Given the description of an element on the screen output the (x, y) to click on. 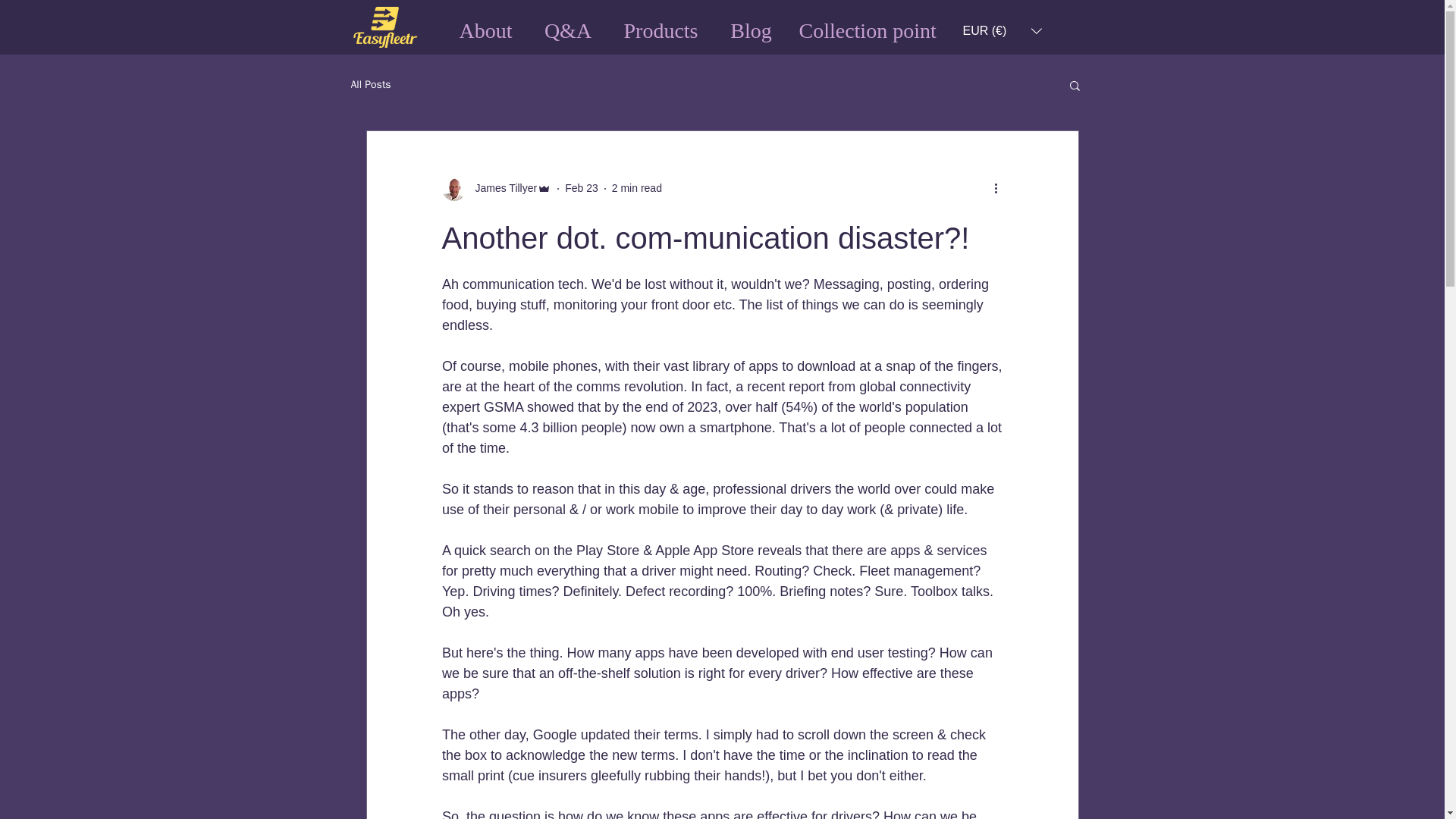
About (485, 30)
James Tillyer (496, 188)
James Tillyer (501, 188)
Feb 23 (581, 187)
Products (660, 30)
All Posts (370, 84)
Collection point (864, 30)
Blog (750, 30)
2 min read (636, 187)
